Given the description of an element on the screen output the (x, y) to click on. 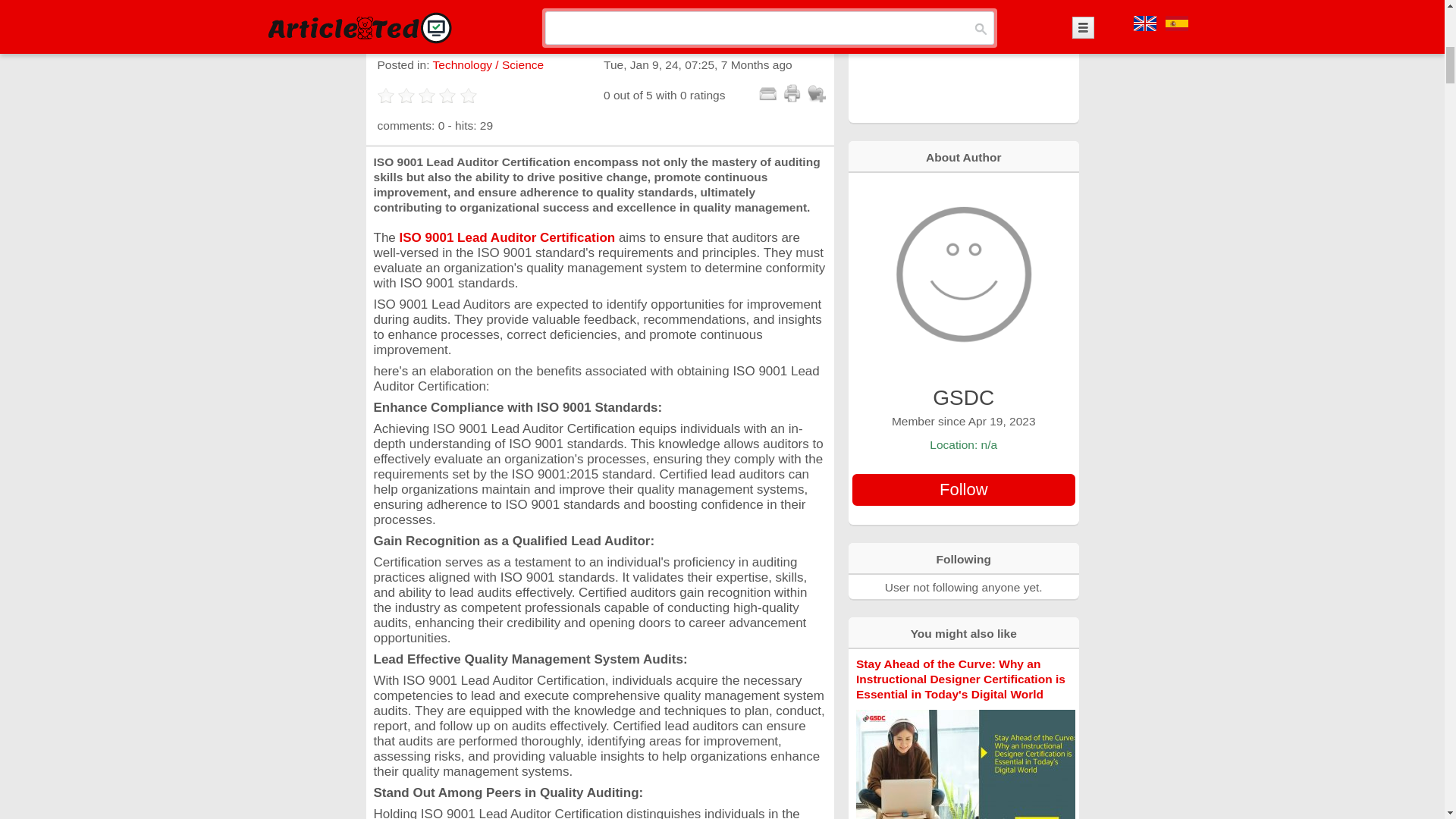
Benefits of ISO 9001 Lead Auditor Certification (598, 4)
Advertisement (963, 60)
ISO 9001 Lead Auditor Certification (506, 237)
Follow (963, 490)
